Given the description of an element on the screen output the (x, y) to click on. 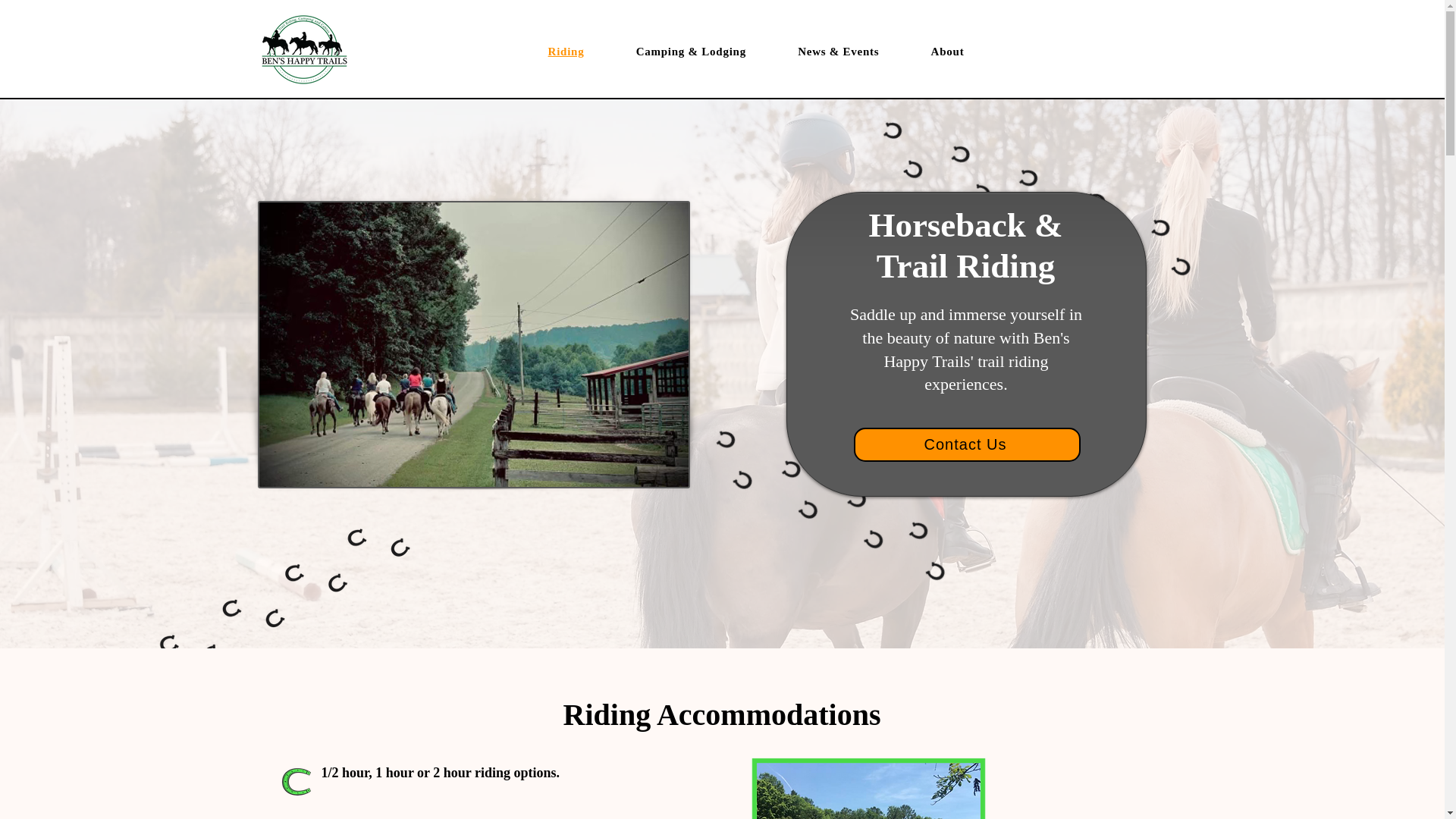
Contact Us (966, 444)
3000x3000-3.png (296, 781)
About (947, 51)
Riding (565, 51)
